Given the description of an element on the screen output the (x, y) to click on. 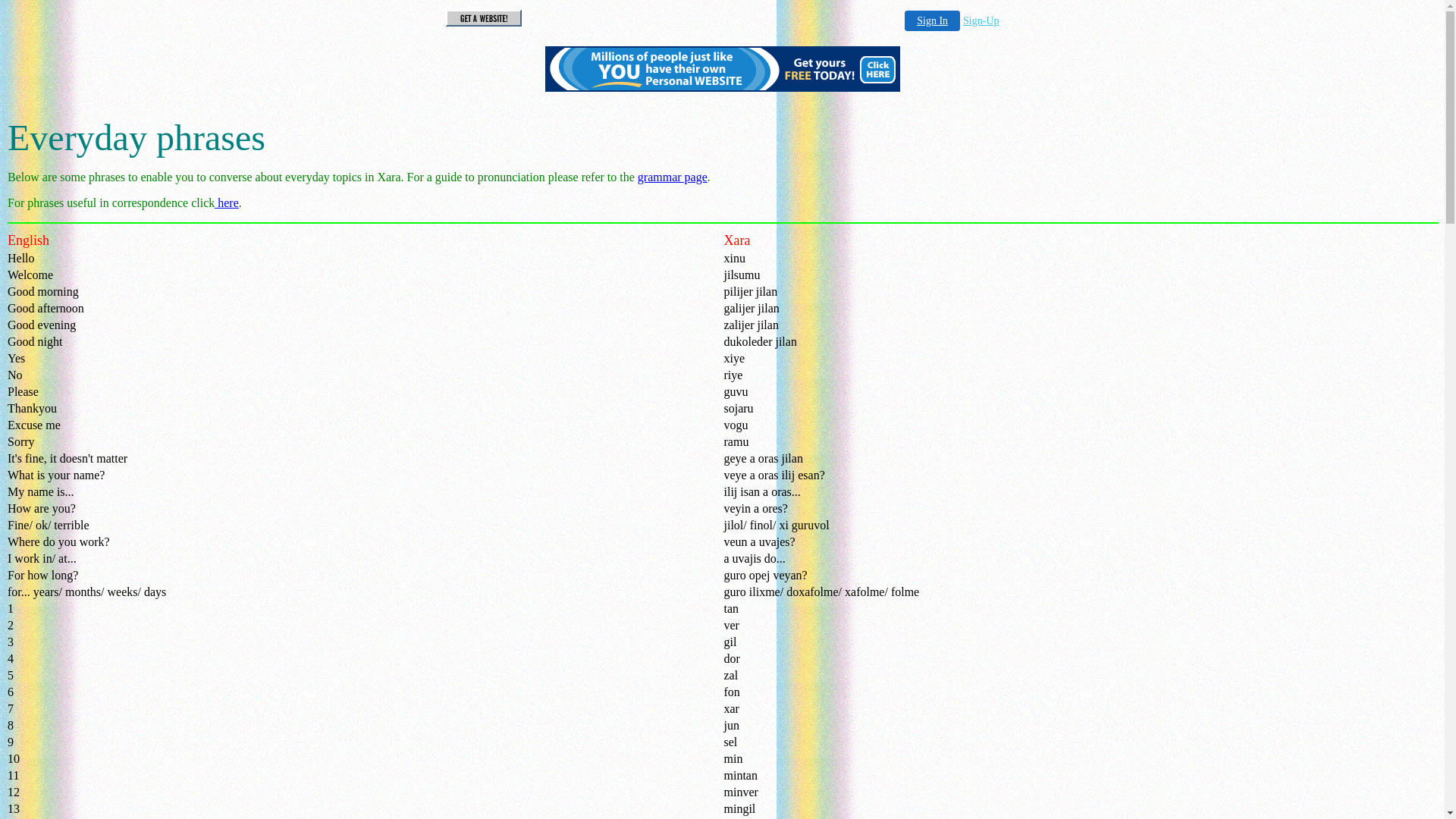
here Element type: text (226, 202)
Sign In Element type: text (932, 20)
Sign-Up Element type: text (980, 20)
grammar page Element type: text (672, 176)
